Given the description of an element on the screen output the (x, y) to click on. 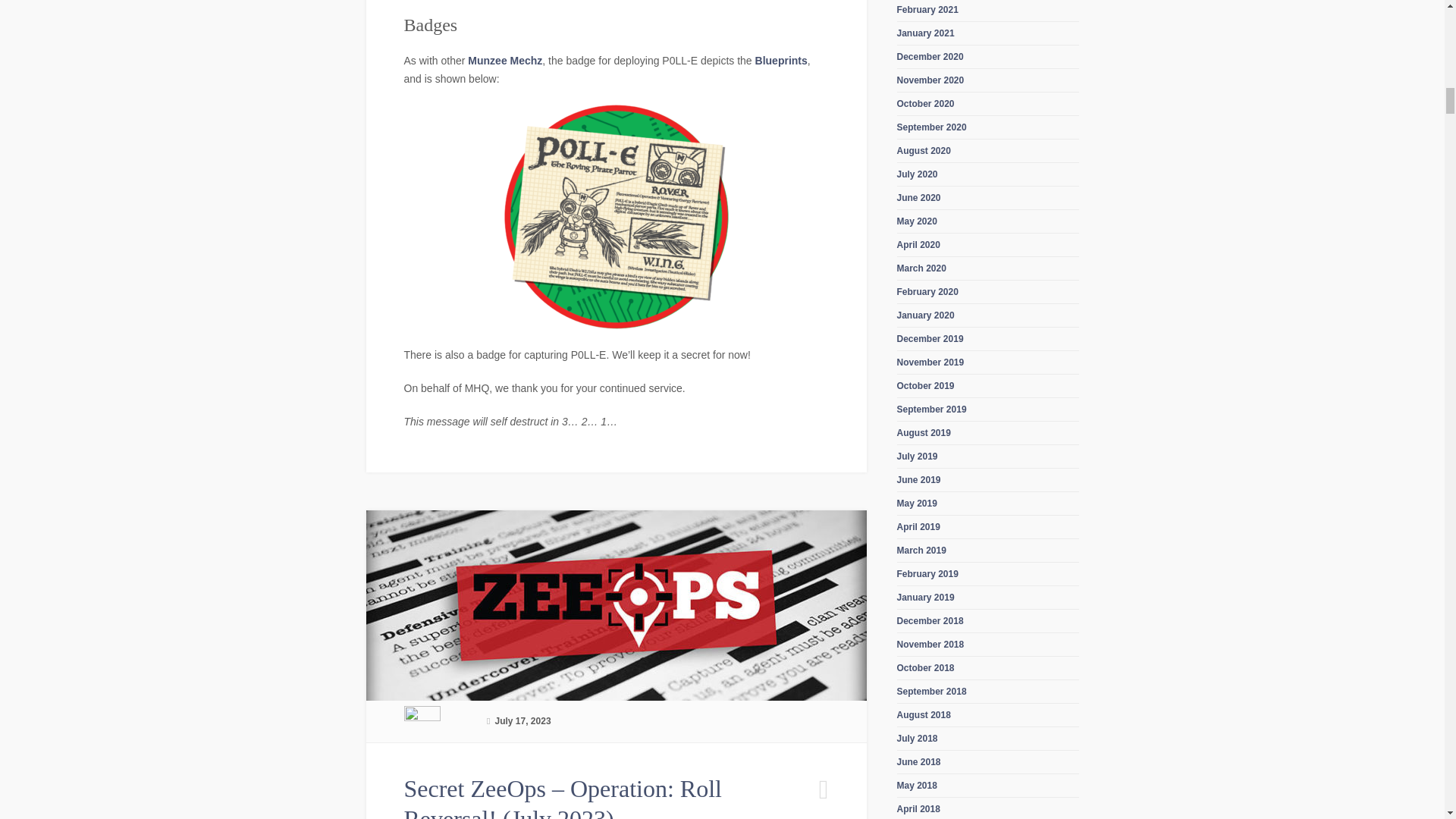
Blueprints (781, 60)
Munzee Mechz (504, 60)
